Given the description of an element on the screen output the (x, y) to click on. 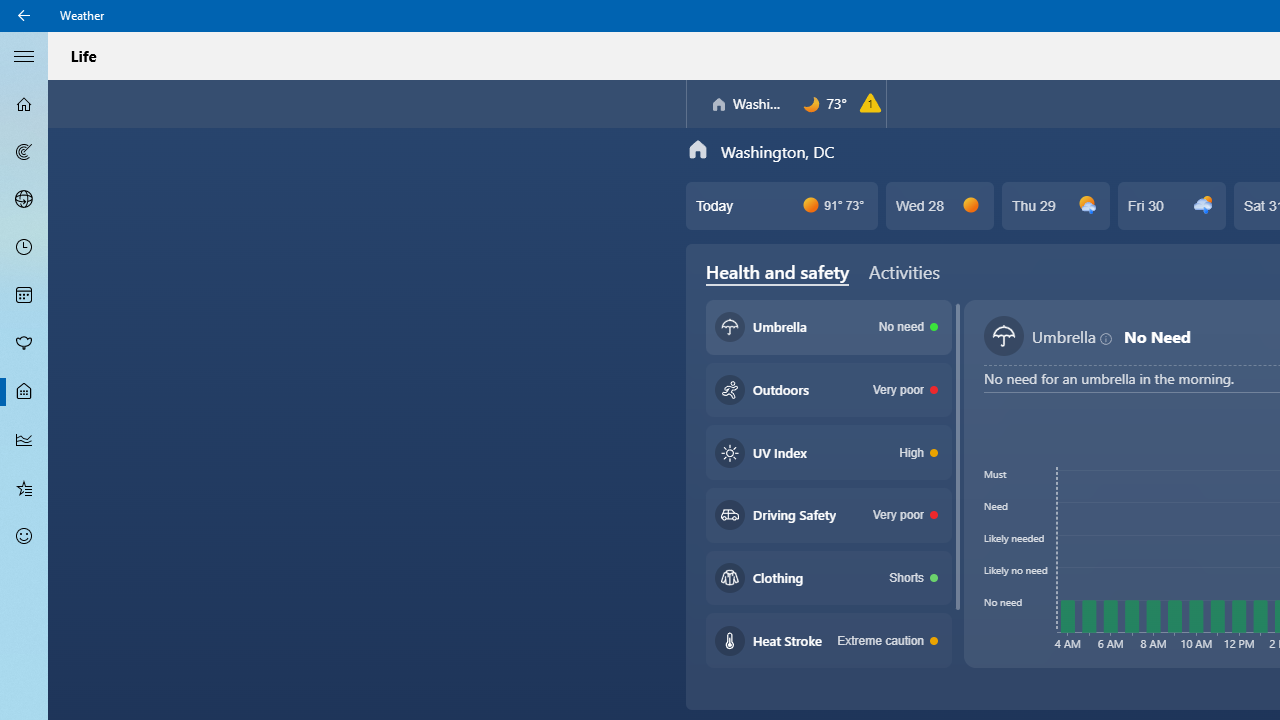
Send Feedback - Not Selected (24, 535)
Life - Not Selected (24, 391)
Hourly Forecast - Not Selected (24, 247)
Send Feedback - Not Selected (24, 535)
Life - Not Selected (24, 391)
Favorites - Not Selected (24, 487)
Historical Weather - Not Selected (24, 439)
